Given the description of an element on the screen output the (x, y) to click on. 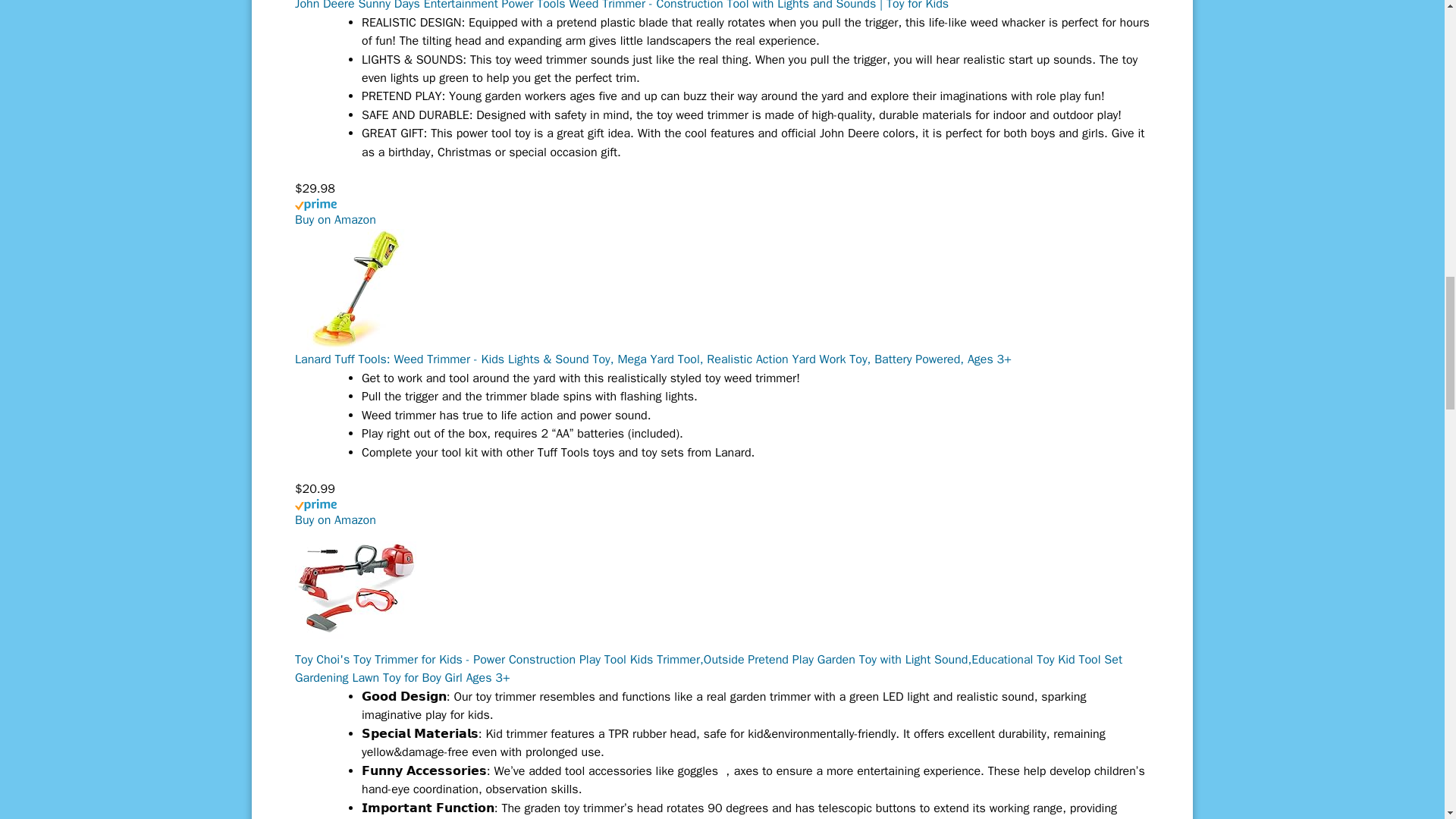
Buy on Amazon (335, 219)
Buy on Amazon (335, 219)
Buy on Amazon (335, 519)
Amazon Prime (722, 213)
Amazon Prime (722, 512)
Buy on Amazon (335, 519)
